Given the description of an element on the screen output the (x, y) to click on. 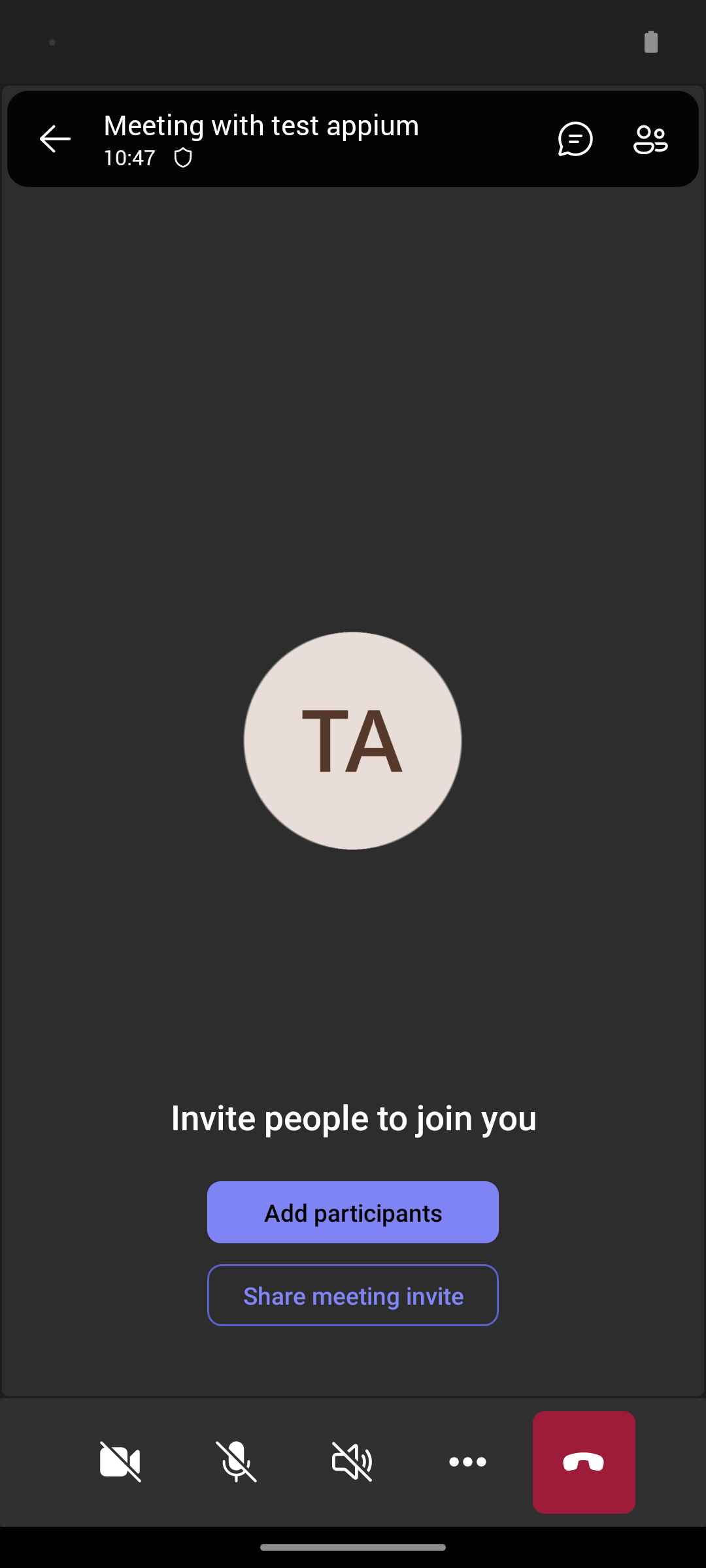
Back (55, 138)
Chat (570, 138)
Show participants (655, 138)
Add participants (352, 1211)
Share meeting invite (352, 1294)
Turn on camera (120, 1462)
Unmute (236, 1462)
Audio (352, 1462)
More options (468, 1462)
Hang up (584, 1462)
